Given the description of an element on the screen output the (x, y) to click on. 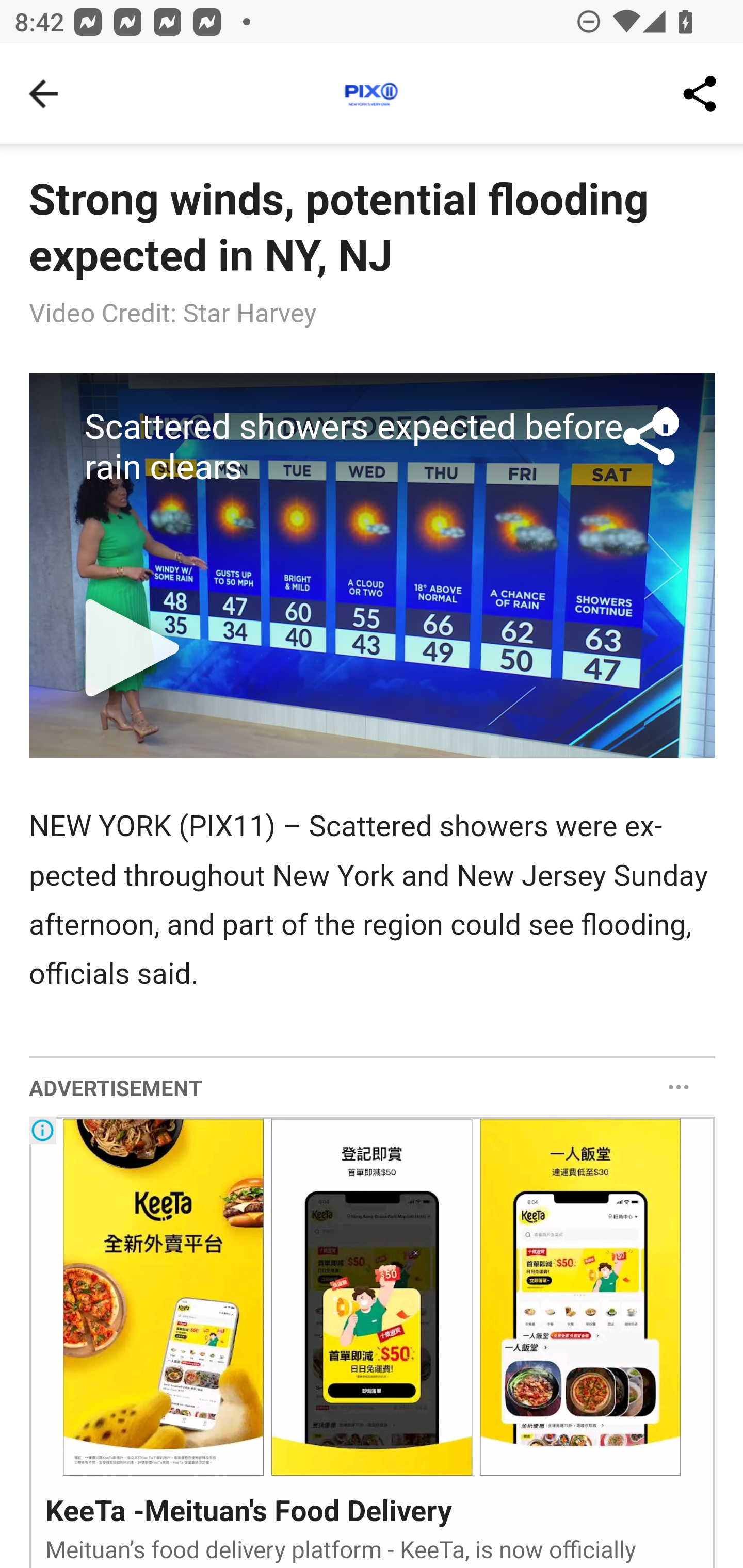
Scattered showers expected before rain clears (372, 564)
